Given the description of an element on the screen output the (x, y) to click on. 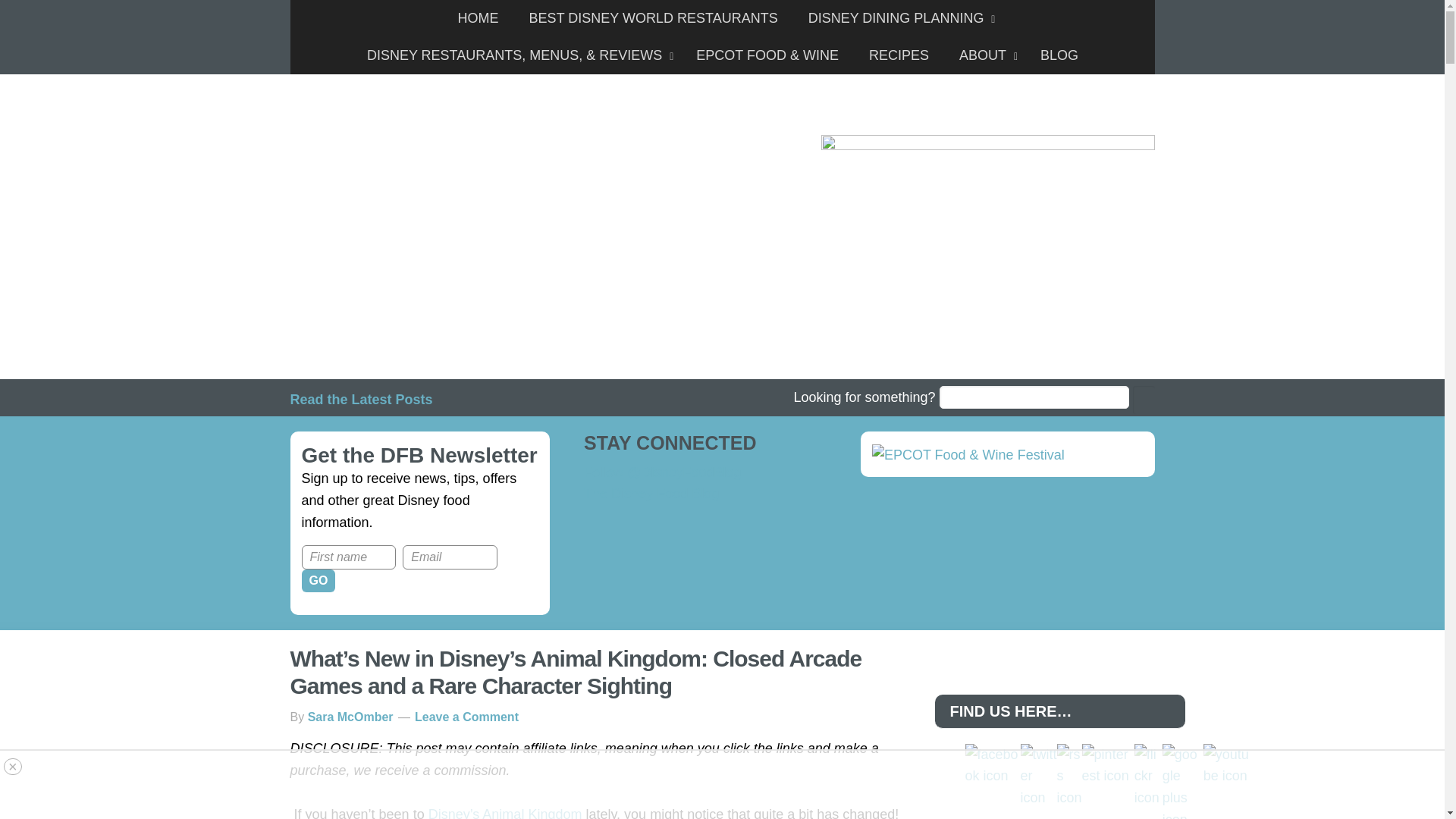
GO (318, 580)
Search (1143, 399)
BEST DISNEY WORLD RESTAURANTS (653, 18)
HOME (477, 18)
DISNEY DINING PLANNING (898, 18)
